Given the description of an element on the screen output the (x, y) to click on. 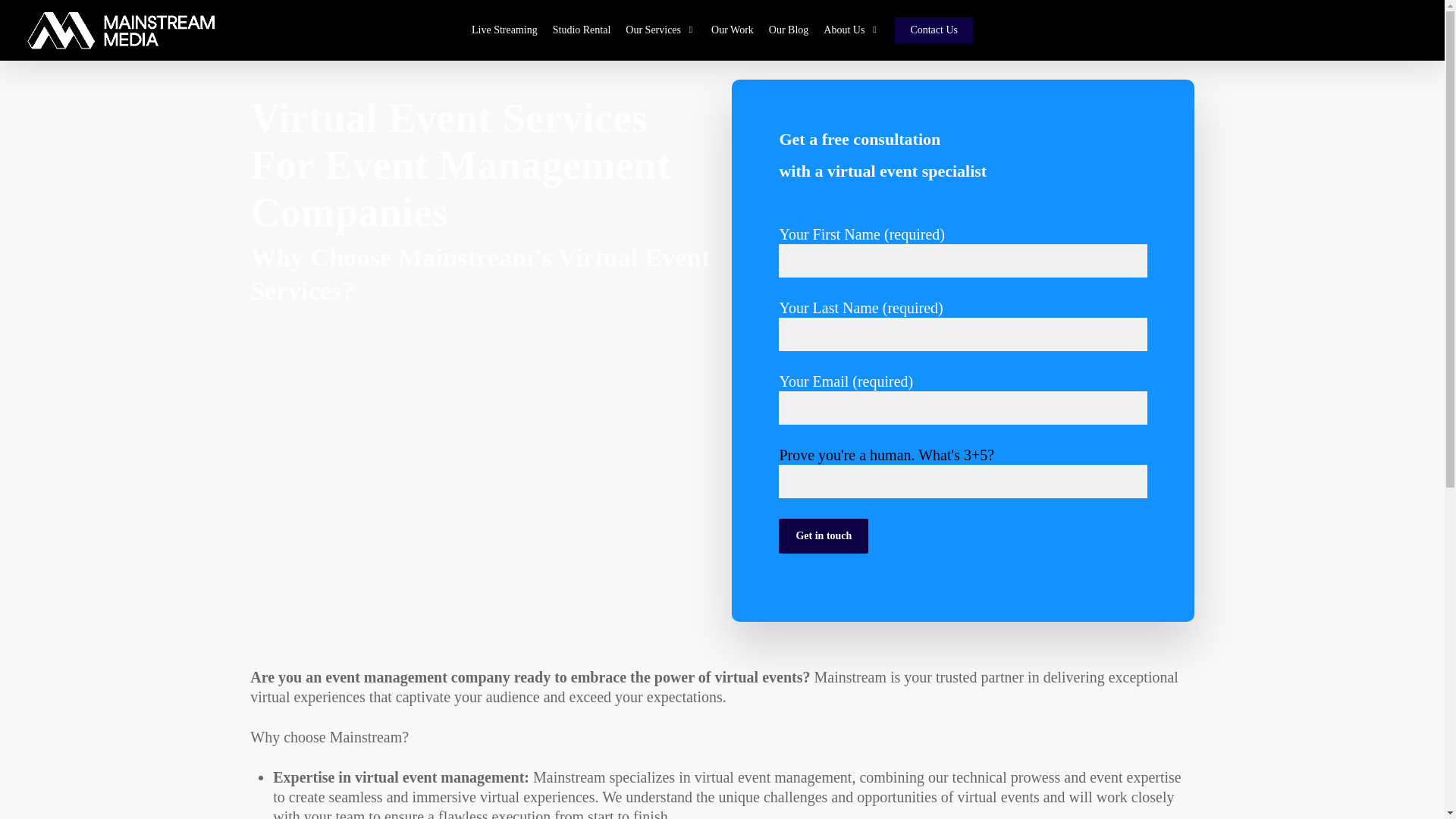
Contact Us (933, 29)
Studio Rental (581, 29)
Get in touch (822, 535)
Live Streaming (504, 29)
Get in touch (822, 535)
Our Services (660, 29)
About Us (850, 29)
Our Work (732, 29)
